Given the description of an element on the screen output the (x, y) to click on. 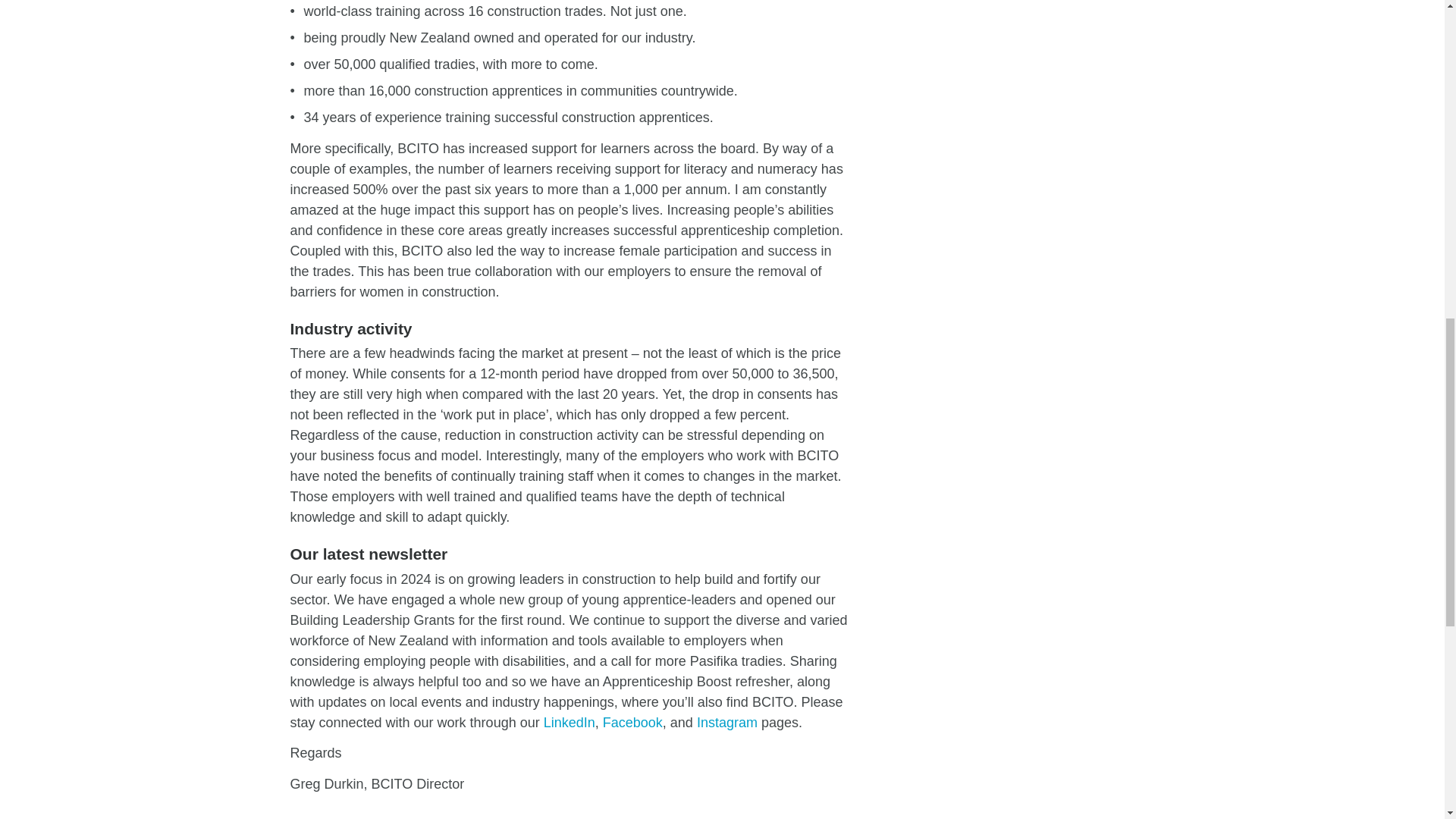
LinkedIn (569, 722)
Facebook (632, 722)
Instagram (727, 722)
